Given the description of an element on the screen output the (x, y) to click on. 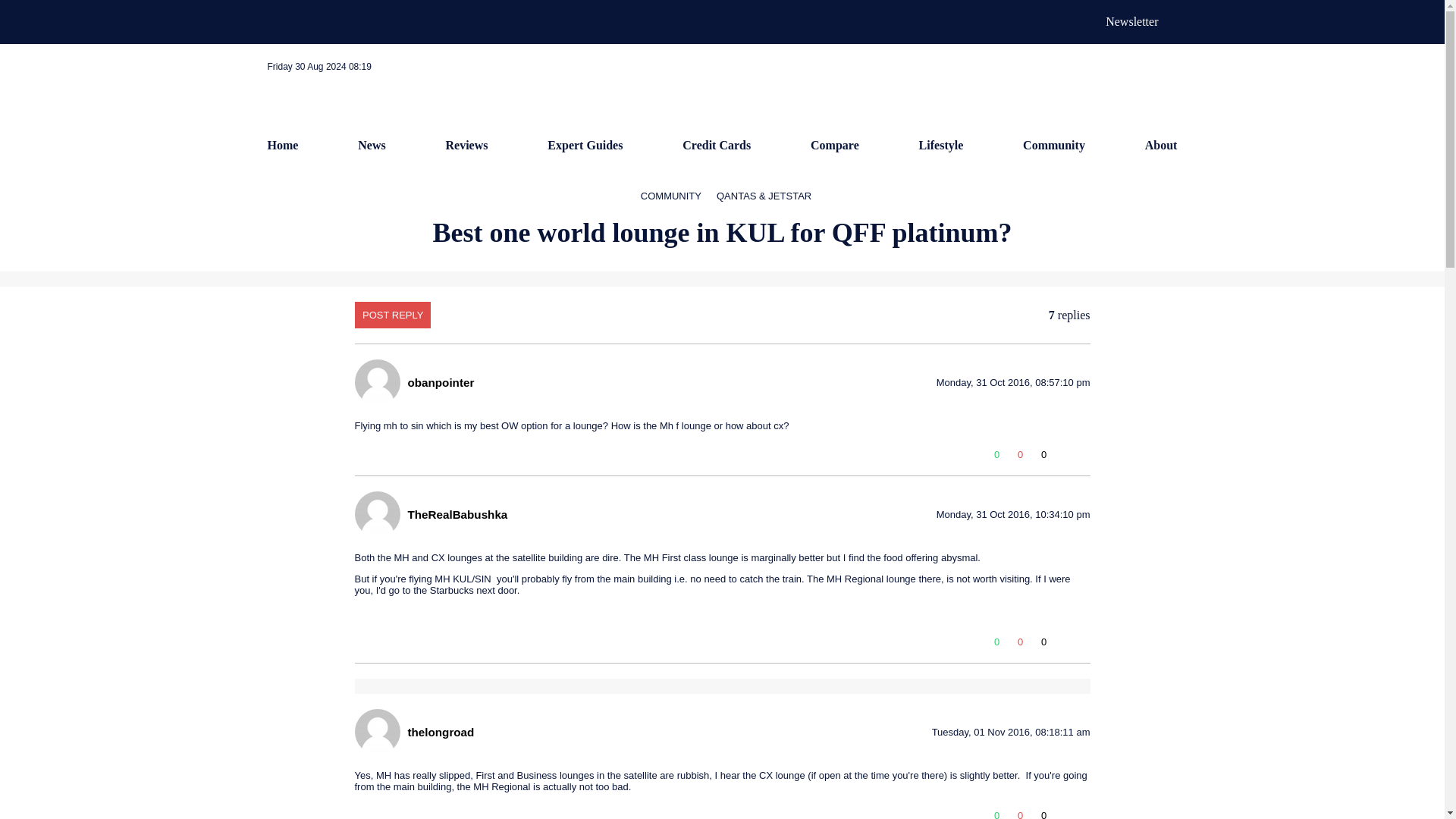
TheRealBabushka (457, 513)
obanpointer (440, 382)
Reply with Quote (1064, 458)
Report this post (1082, 645)
Reply with Quote (1064, 645)
Report this post (1082, 458)
thelongroad (440, 730)
Like (997, 810)
